Given the description of an element on the screen output the (x, y) to click on. 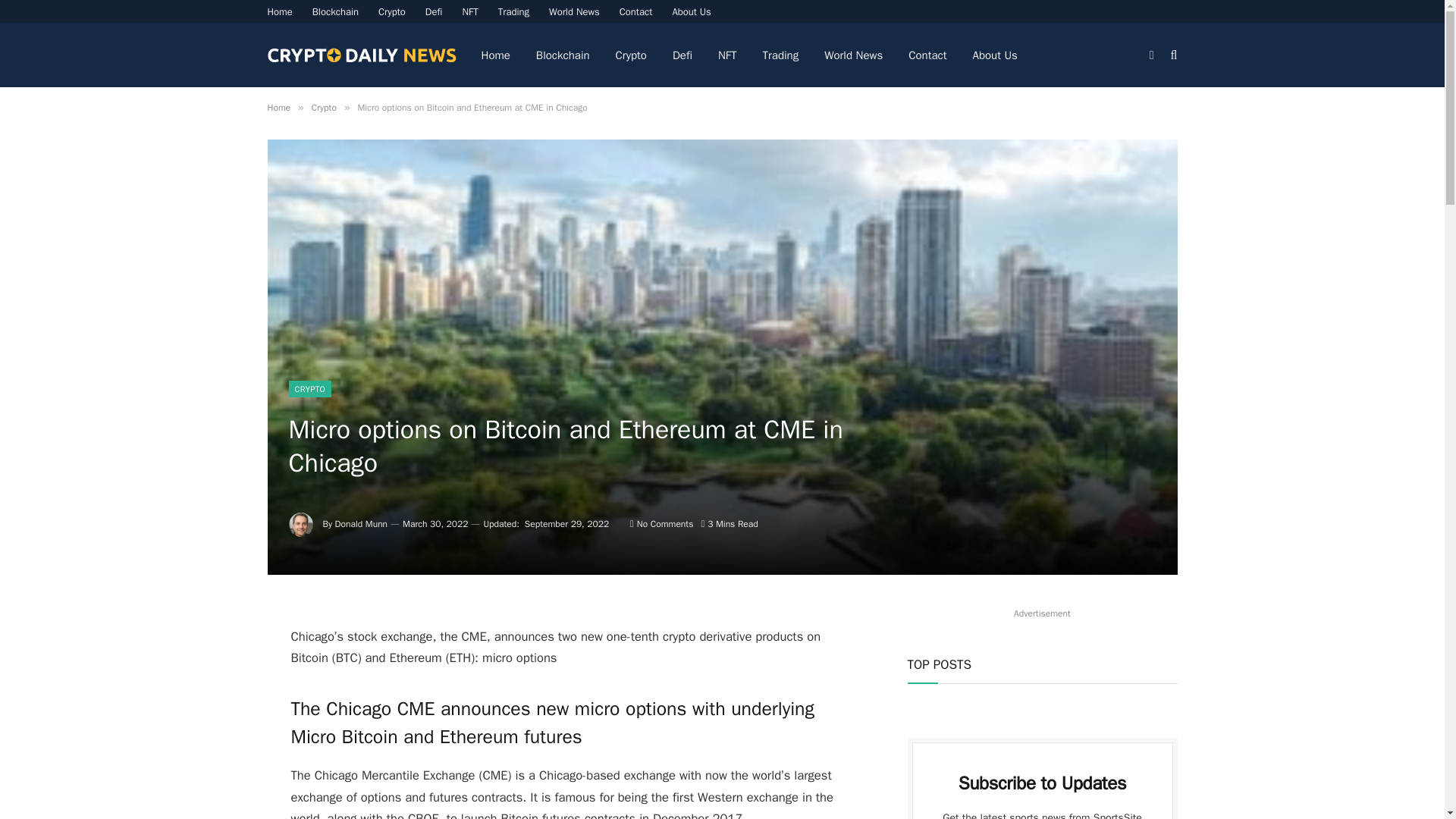
About Us (994, 54)
Switch to Dark Design - easier on eyes. (1151, 54)
Blockchain (335, 11)
About Us (691, 11)
NFT (469, 11)
Contact (927, 54)
Trading (512, 11)
Defi (433, 11)
Trading (780, 54)
World News (852, 54)
Blockchain (562, 54)
World News (574, 11)
CryptodailyNews24 (361, 54)
Posts by Donald Munn (361, 523)
